Given the description of an element on the screen output the (x, y) to click on. 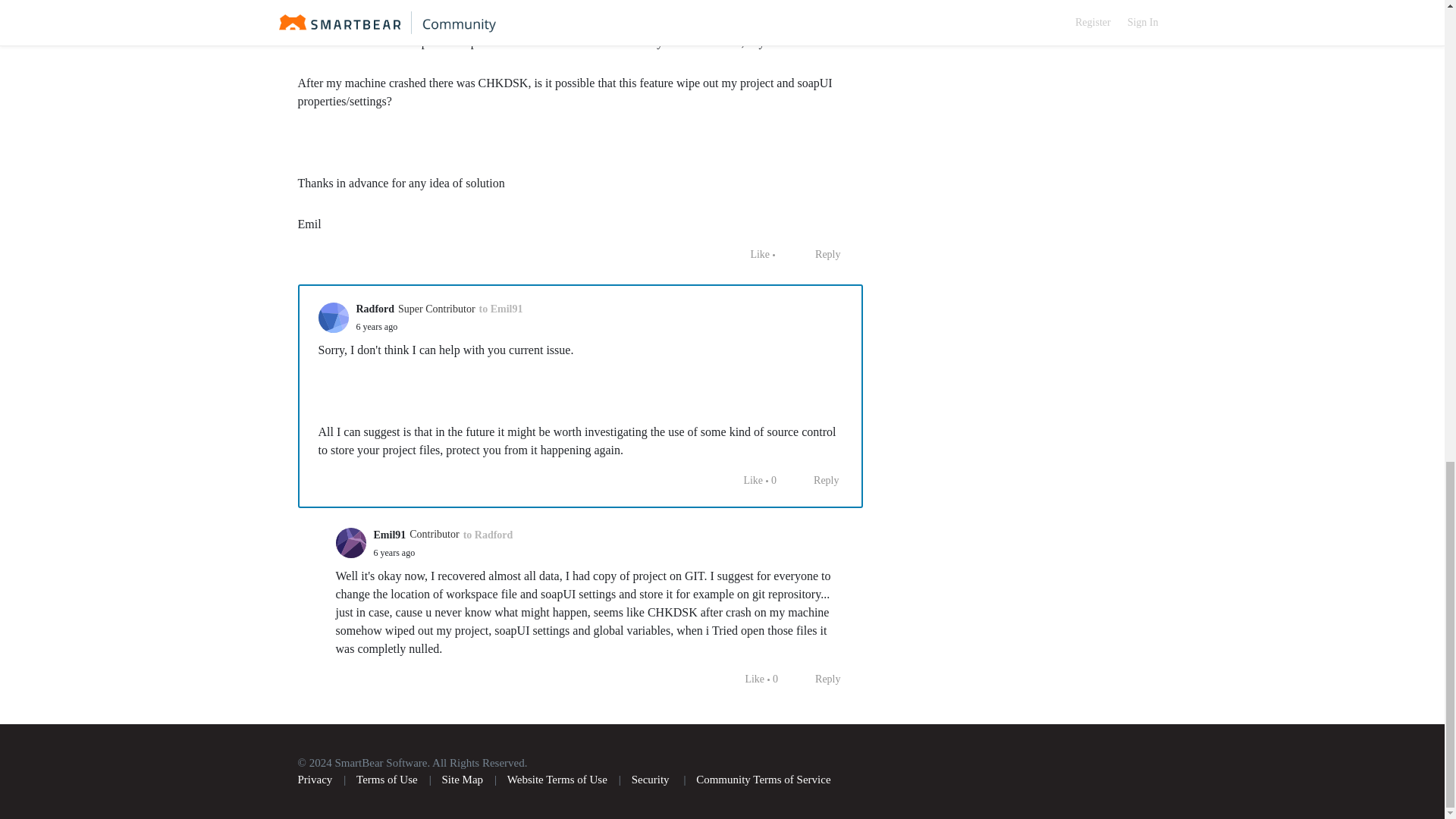
August 2, 2019 at 8:53 AM (376, 326)
Like (744, 480)
Radford (375, 308)
to Emil91 (500, 308)
Like (751, 254)
Reply (819, 254)
August 2, 2019 at 9:15 AM (393, 552)
